Given the description of an element on the screen output the (x, y) to click on. 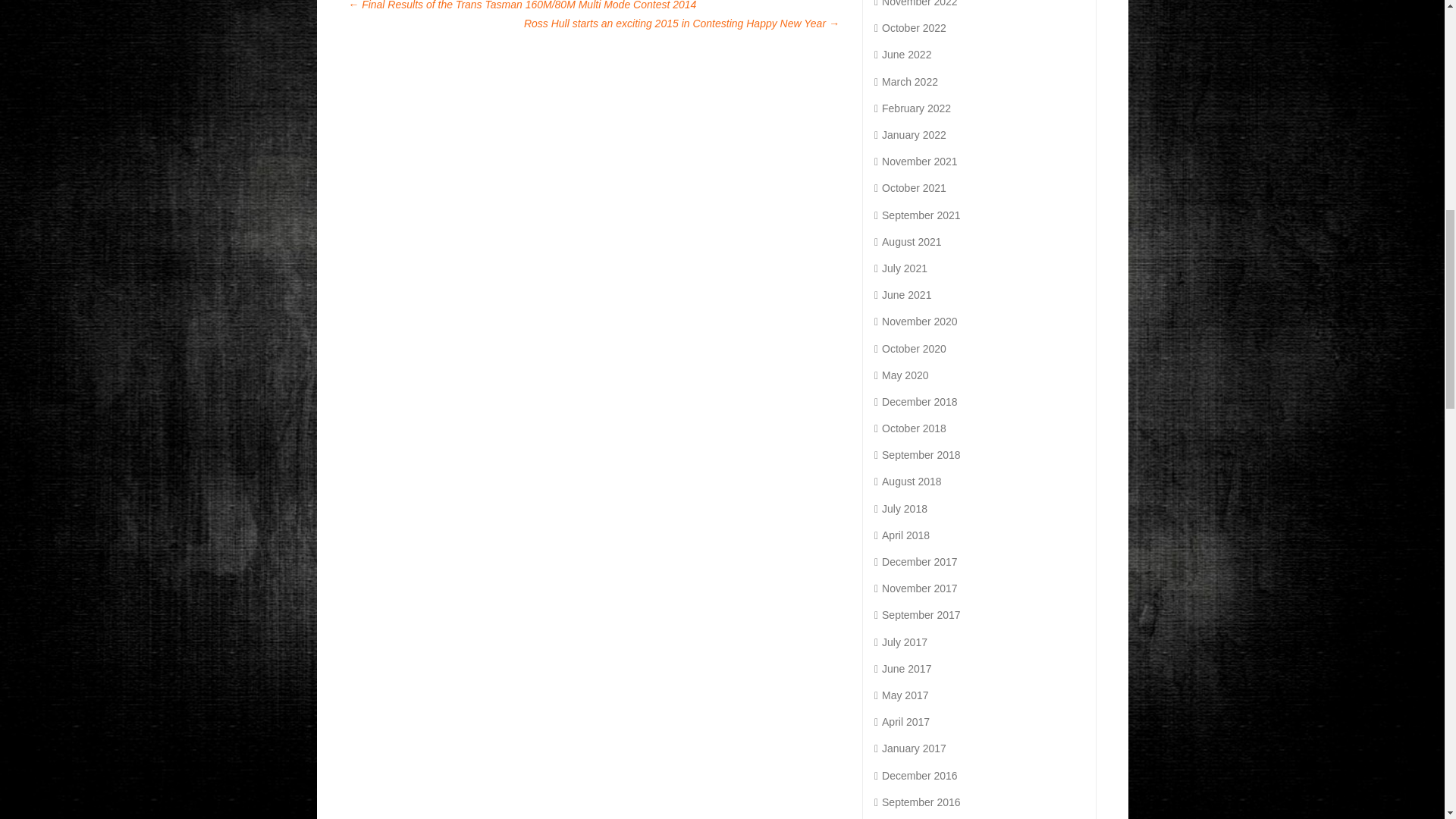
March 2022 (906, 81)
June 2022 (903, 54)
February 2022 (912, 108)
January 2022 (910, 134)
October 2022 (910, 28)
November 2022 (916, 3)
